Given the description of an element on the screen output the (x, y) to click on. 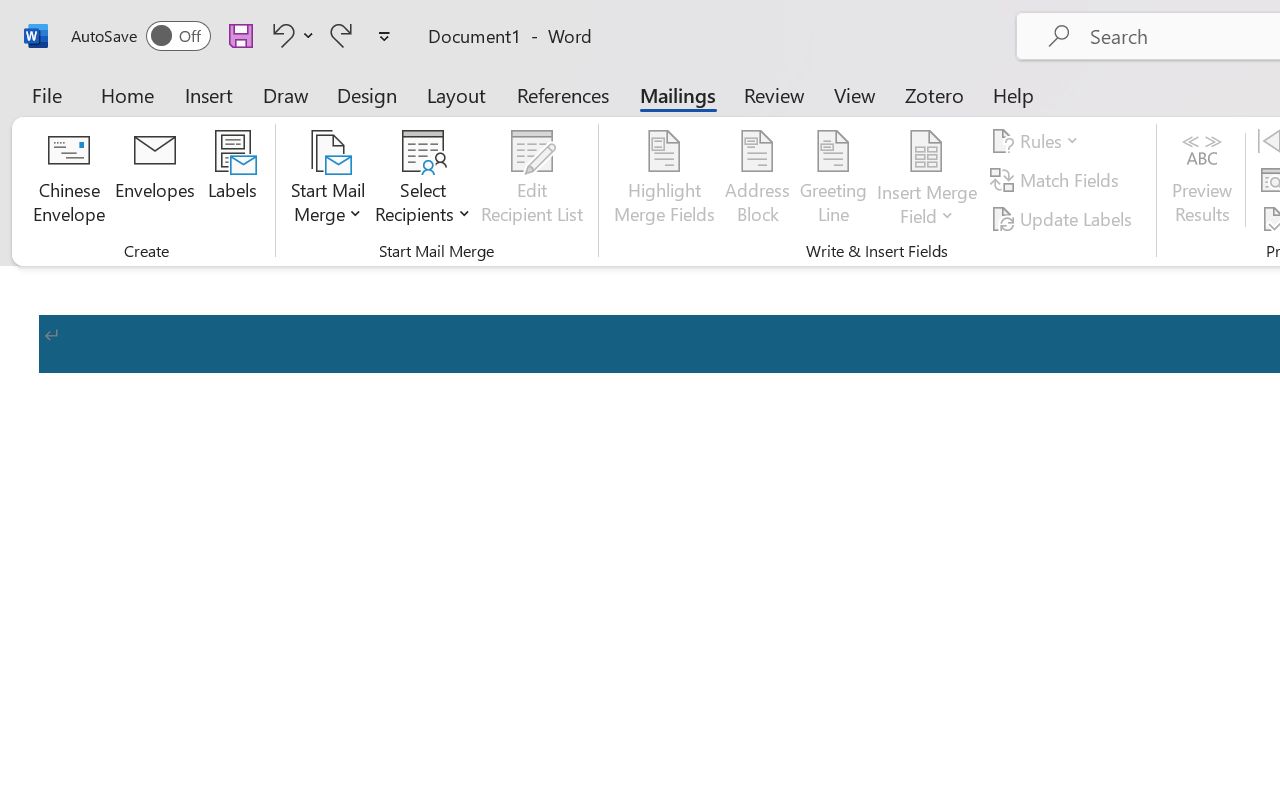
Rules (1037, 141)
Match Fields... (1057, 179)
Preview Results (1202, 179)
Update Labels (1064, 218)
